Given the description of an element on the screen output the (x, y) to click on. 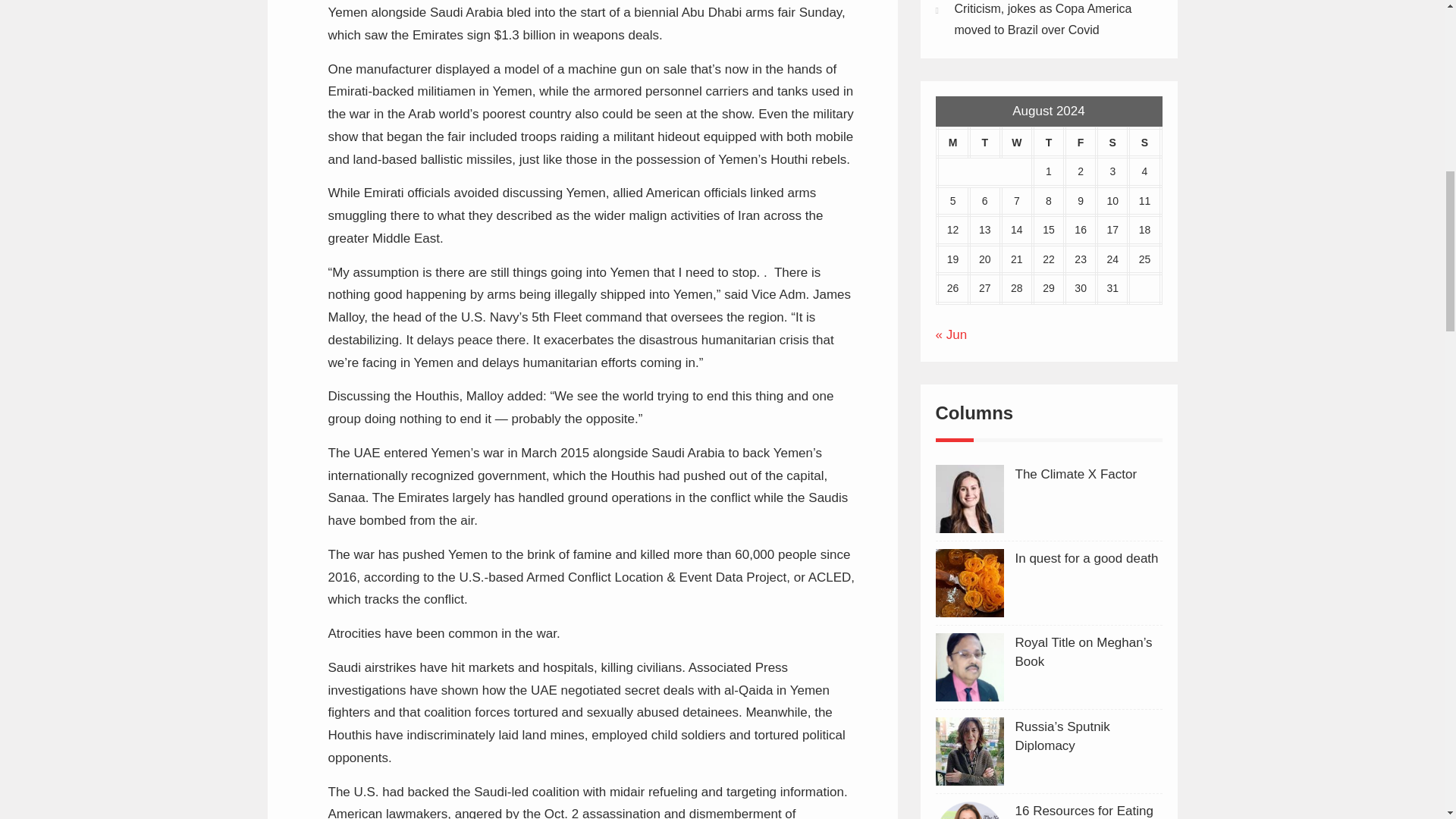
Wednesday (1016, 142)
Tuesday (985, 142)
Friday (1080, 142)
Monday (953, 142)
Saturday (1112, 142)
Sunday (1144, 142)
Thursday (1048, 142)
